Given the description of an element on the screen output the (x, y) to click on. 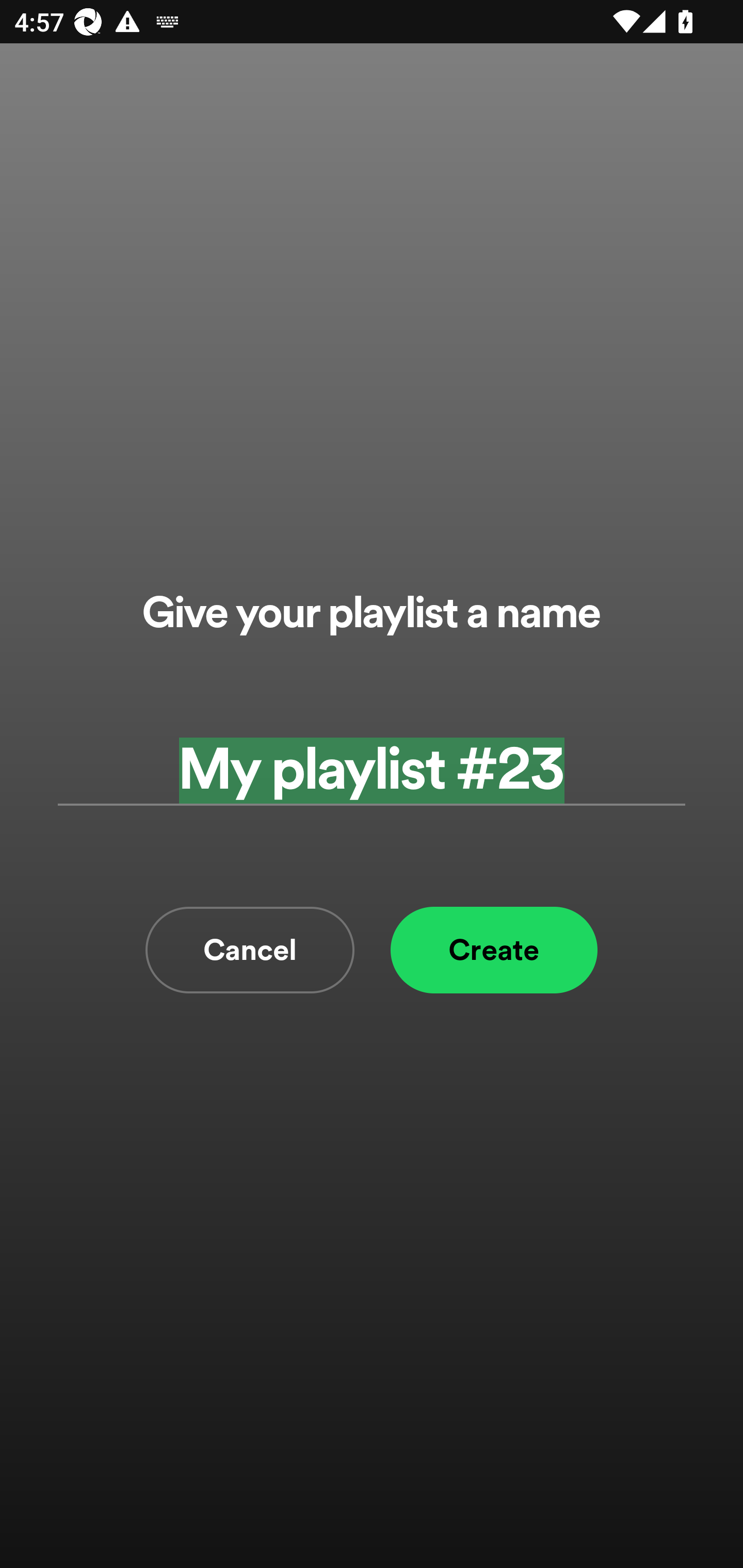
My playlist #23 Add a playlist name (371, 769)
Cancel (249, 950)
Create (493, 950)
